Given the description of an element on the screen output the (x, y) to click on. 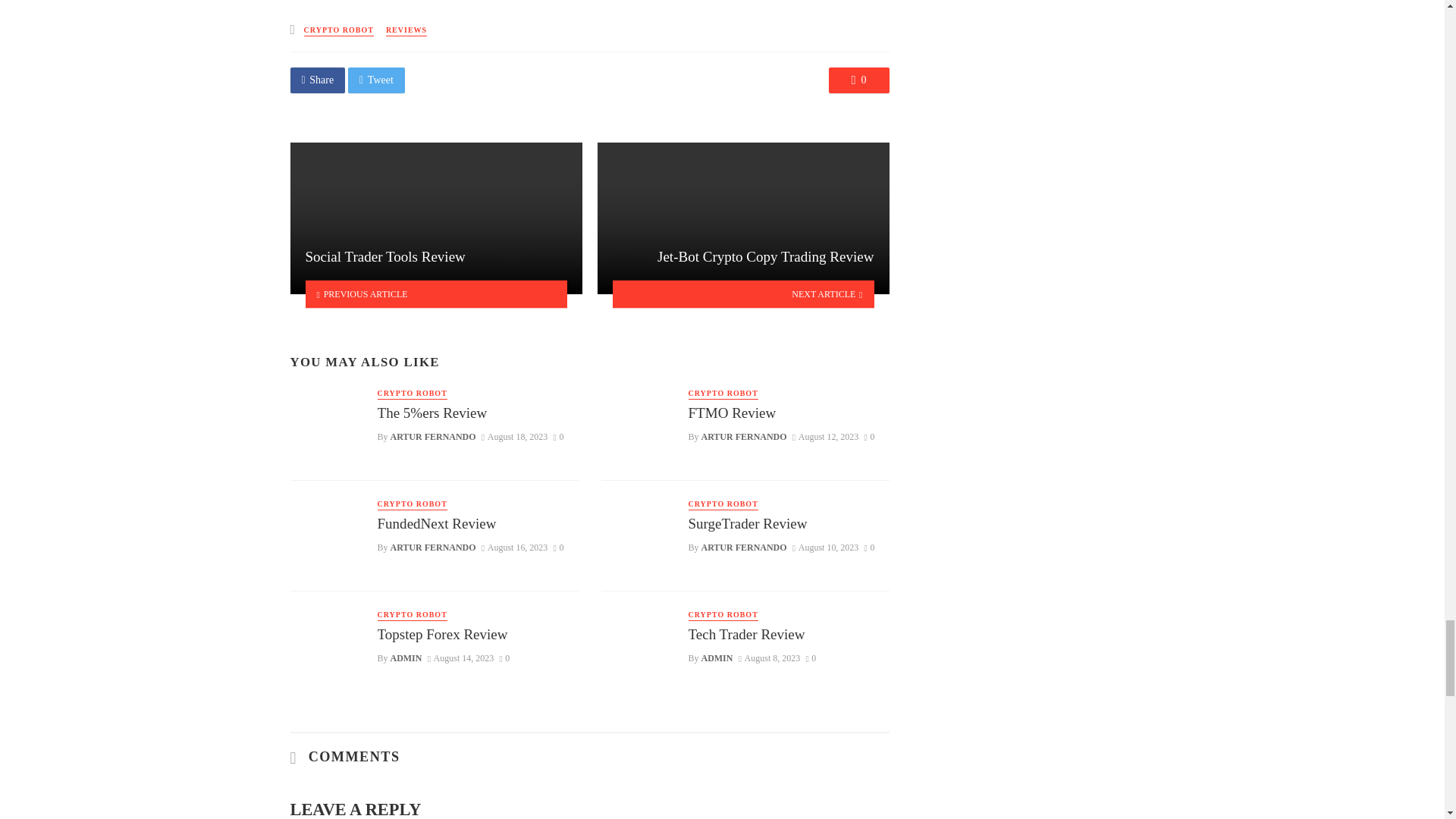
Share on Facebook (317, 80)
0 Comments (558, 436)
August 16, 2023 at 2:35 pm (514, 547)
0 Comments (858, 80)
August 18, 2023 at 9:37 am (514, 436)
Share on Twitter (375, 80)
0 Comments (558, 547)
August 14, 2023 at 1:15 pm (461, 657)
